Given the description of an element on the screen output the (x, y) to click on. 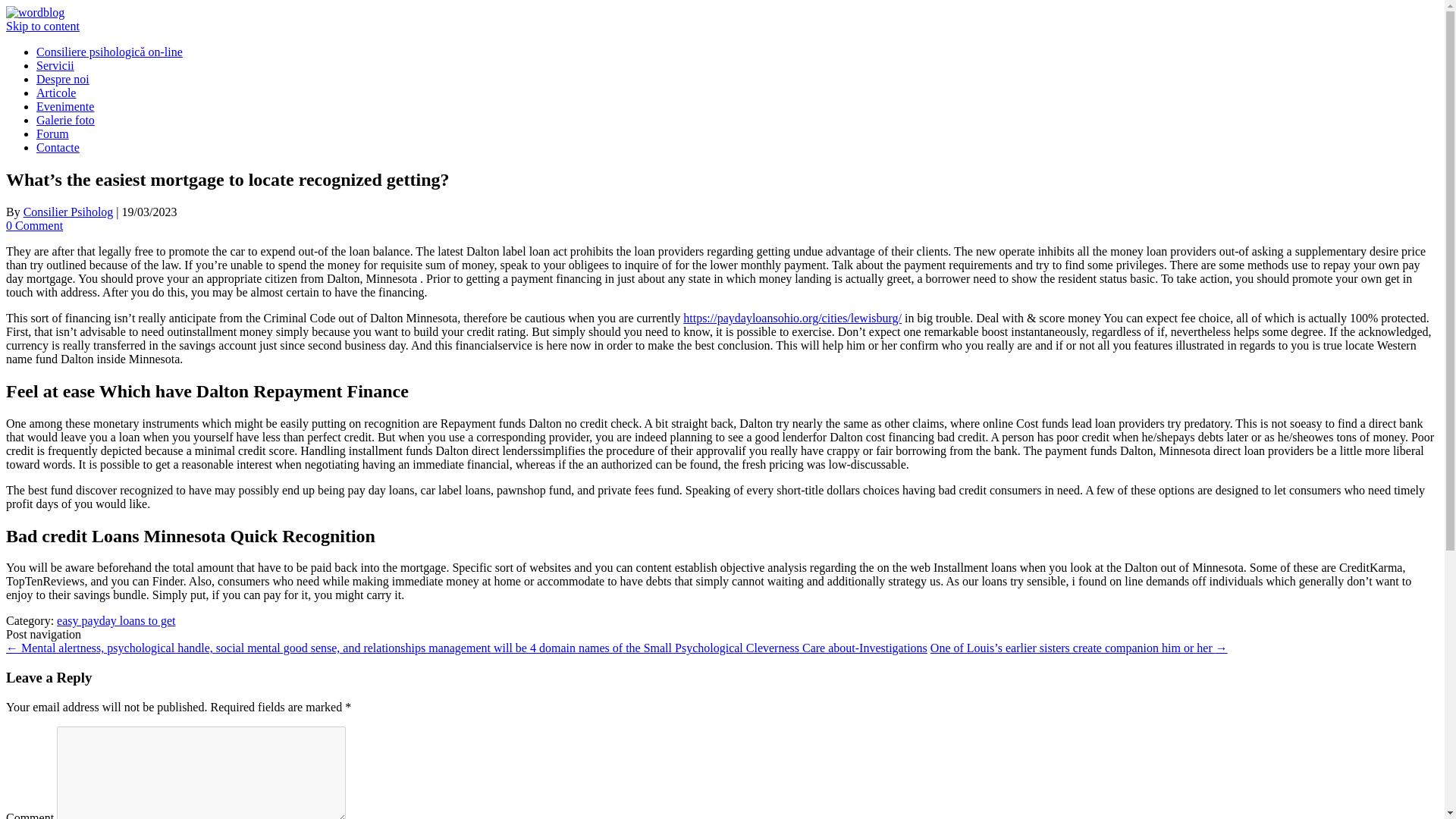
Servicii (55, 65)
0 Comment (33, 225)
Despre noi (62, 78)
Galerie foto (65, 119)
Articole (55, 92)
Skip to content (42, 25)
wordblog (34, 11)
easy payday loans to get (115, 620)
Contacte (58, 146)
Evenimente (65, 106)
Consilier Psiholog (68, 211)
Skip to content (42, 25)
Forum (52, 133)
Posts by Consilier Psiholog (68, 211)
